Given the description of an element on the screen output the (x, y) to click on. 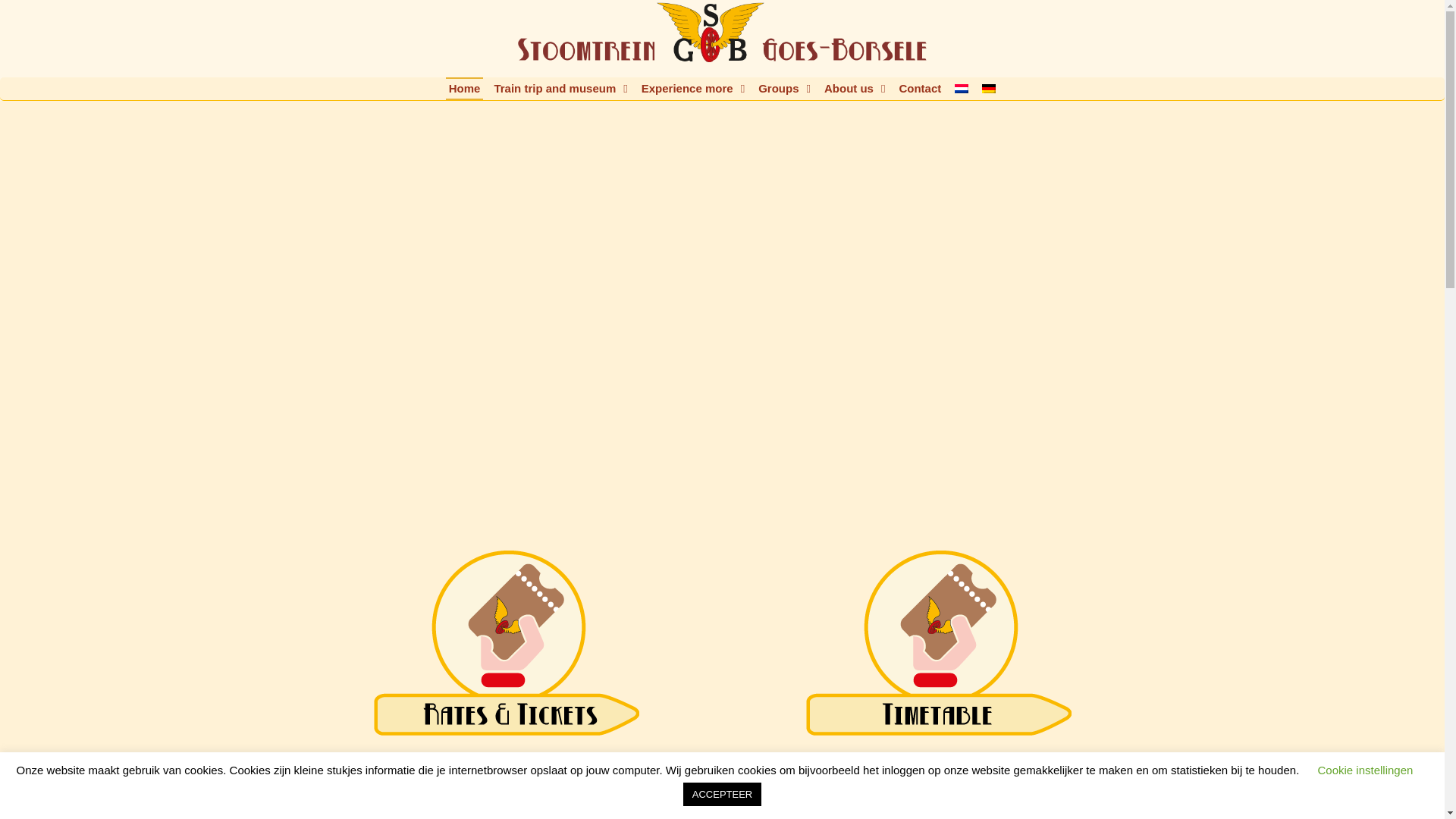
About us (854, 87)
Experience more (693, 87)
Groups (784, 87)
Home (464, 87)
Train trip and museum (560, 87)
Contact (919, 87)
